Given the description of an element on the screen output the (x, y) to click on. 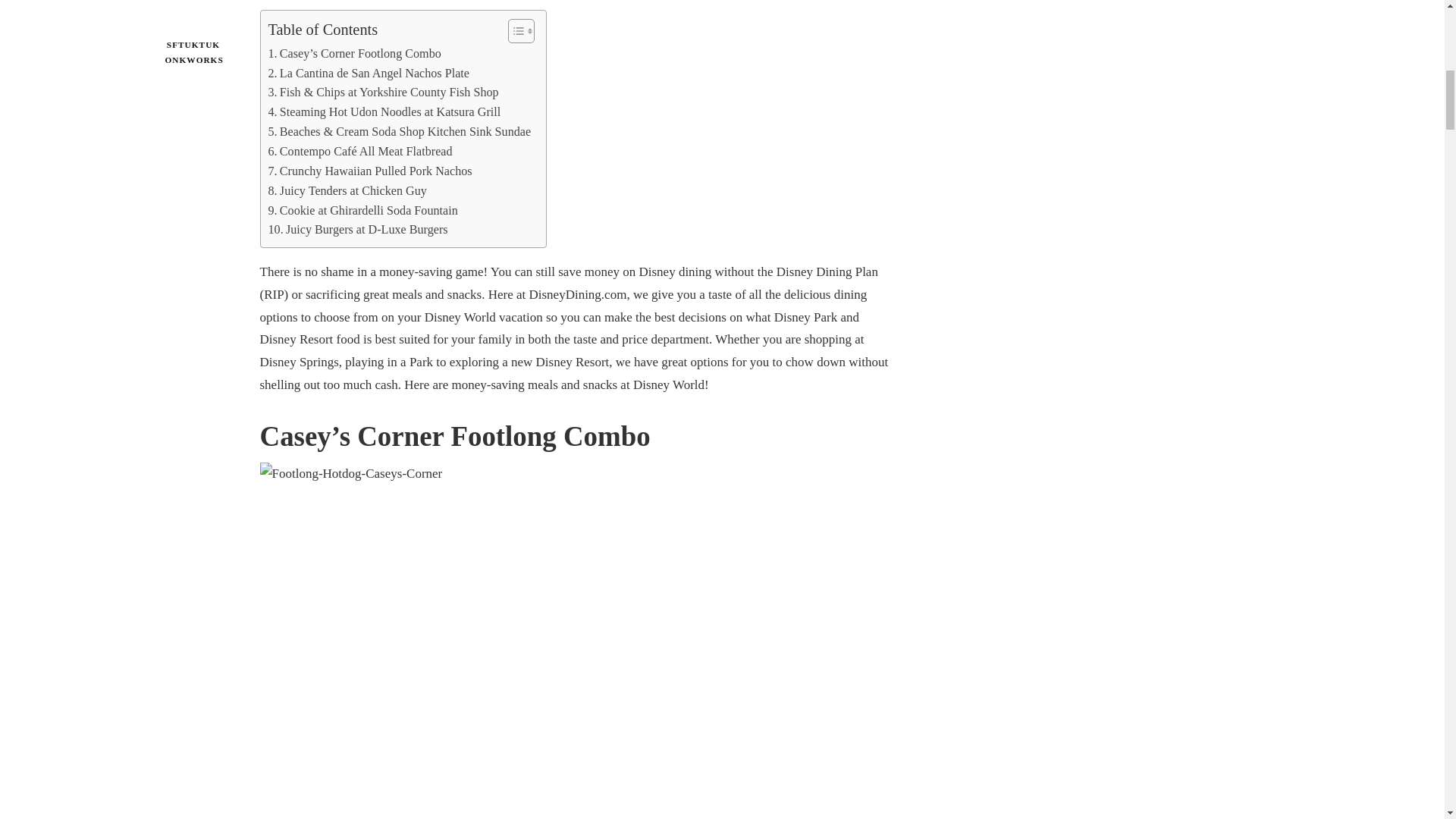
Juicy Burgers at D-Luxe Burgers (357, 229)
Cookie at Ghirardelli Soda Fountain (362, 209)
Crunchy Hawaiian Pulled Pork Nachos (369, 170)
La Cantina de San Angel Nachos Plate (367, 73)
La Cantina de San Angel Nachos Plate (367, 73)
Steaming Hot Udon Noodles at Katsura Grill (383, 112)
Crunchy Hawaiian Pulled Pork Nachos (369, 170)
Cookie at Ghirardelli Soda Fountain (362, 209)
SFTUKTUK ONKWORKS (193, 24)
Juicy Tenders at Chicken Guy (346, 190)
Juicy Burgers at D-Luxe Burgers (357, 229)
Juicy Tenders at Chicken Guy (346, 190)
Steaming Hot Udon Noodles at Katsura Grill (383, 112)
